Given the description of an element on the screen output the (x, y) to click on. 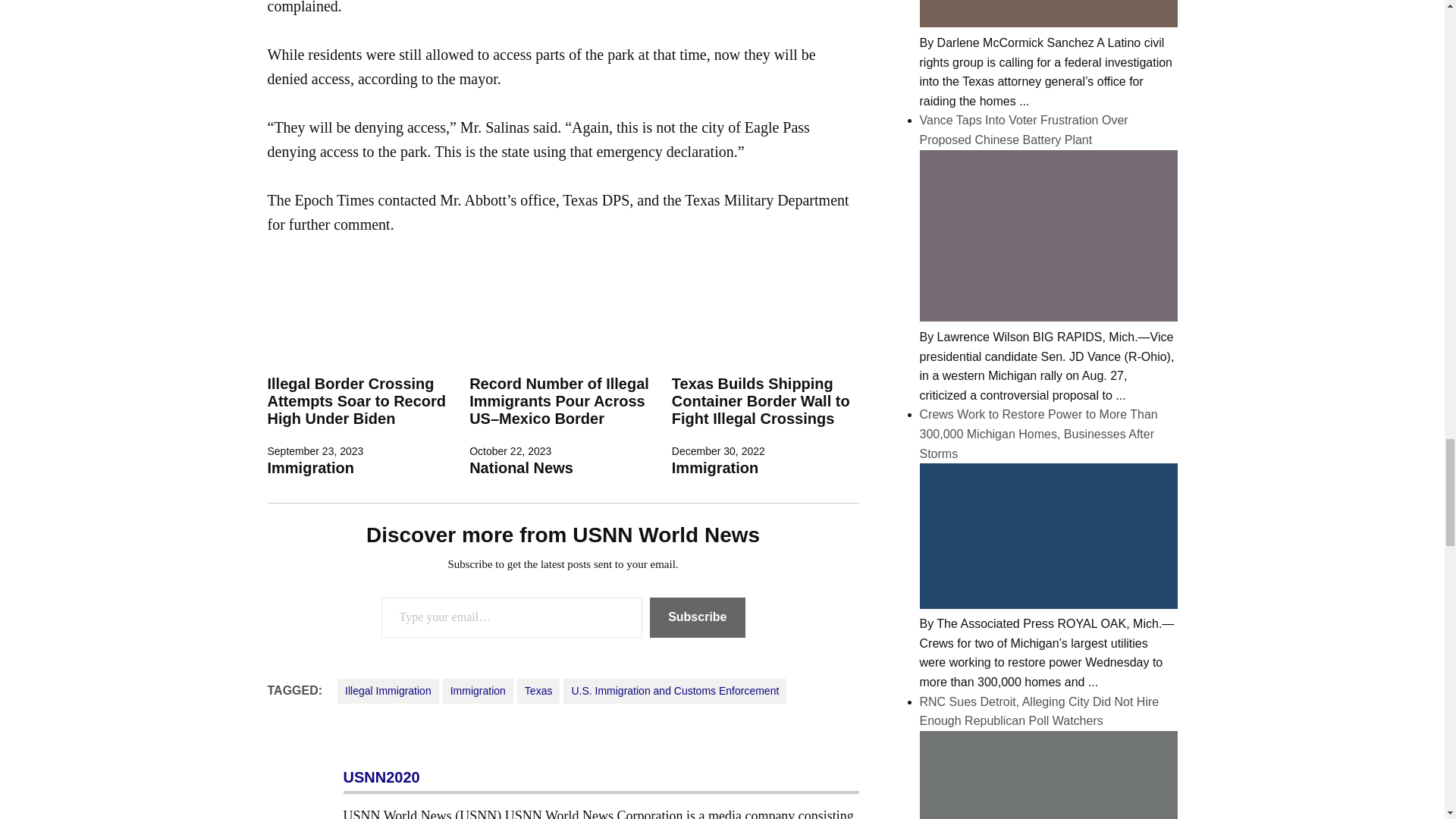
Please fill in this field. (511, 617)
